Given the description of an element on the screen output the (x, y) to click on. 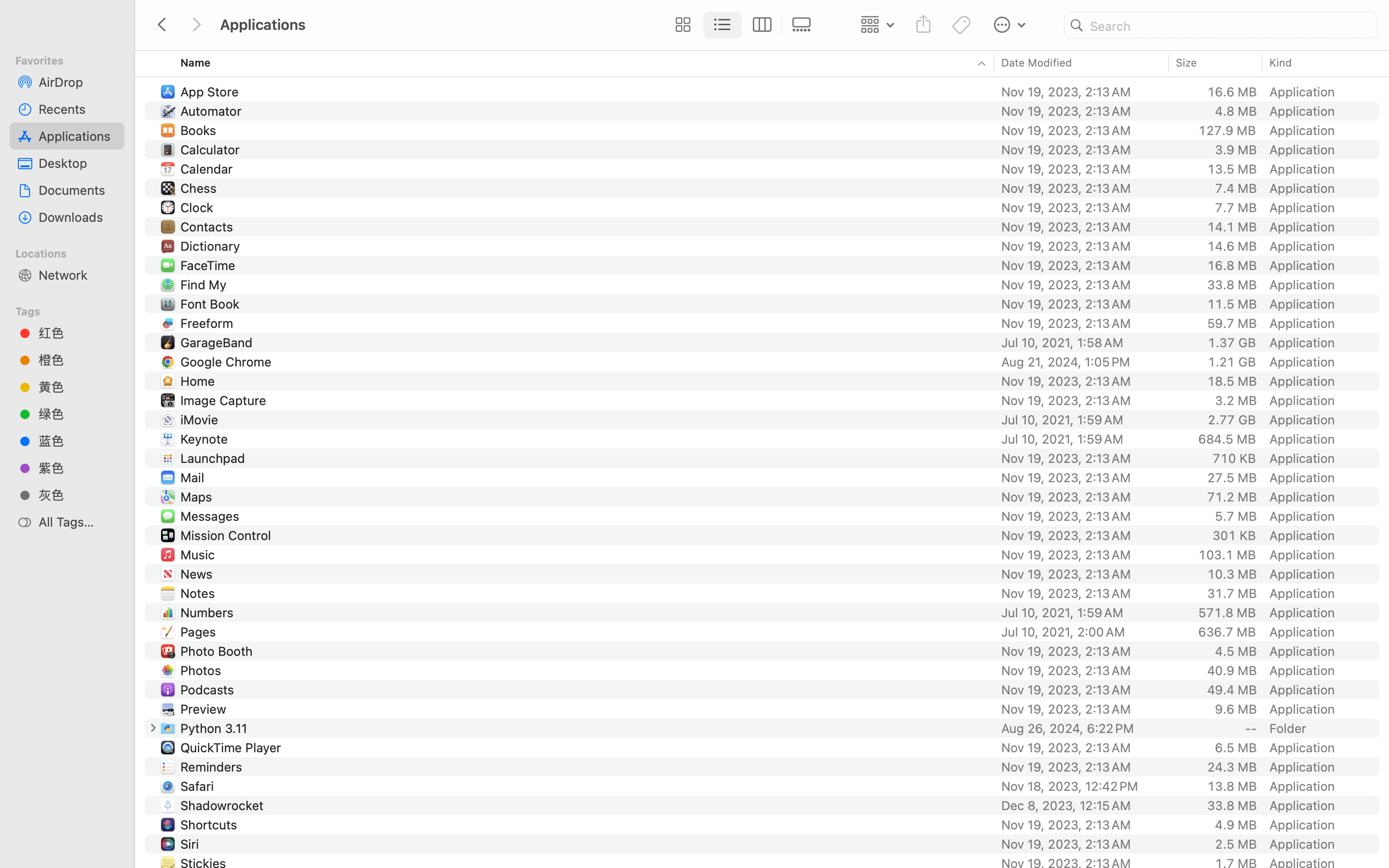
Favorites Element type: AXStaticText (72, 59)
636.7 MB Element type: AXStaticText (1226, 631)
Find My Element type: AXTextField (205, 284)
Network Element type: AXStaticText (77, 274)
Calculator Element type: AXTextField (211, 149)
